Given the description of an element on the screen output the (x, y) to click on. 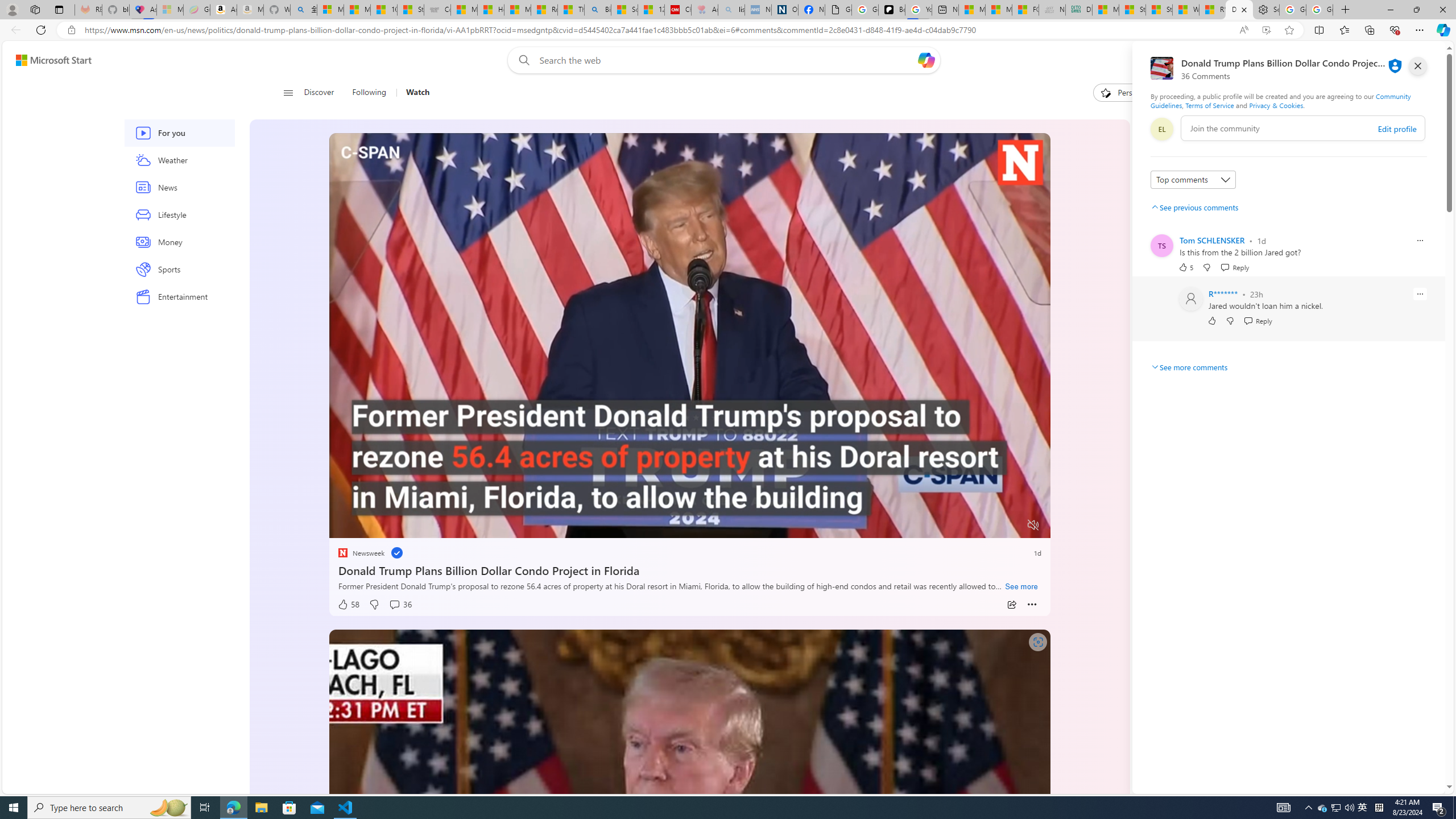
Profile Picture (1190, 298)
comment-box (1302, 127)
Community Guidelines (1280, 100)
5 Like (1185, 267)
Terms of Service (1209, 104)
